Given the description of an element on the screen output the (x, y) to click on. 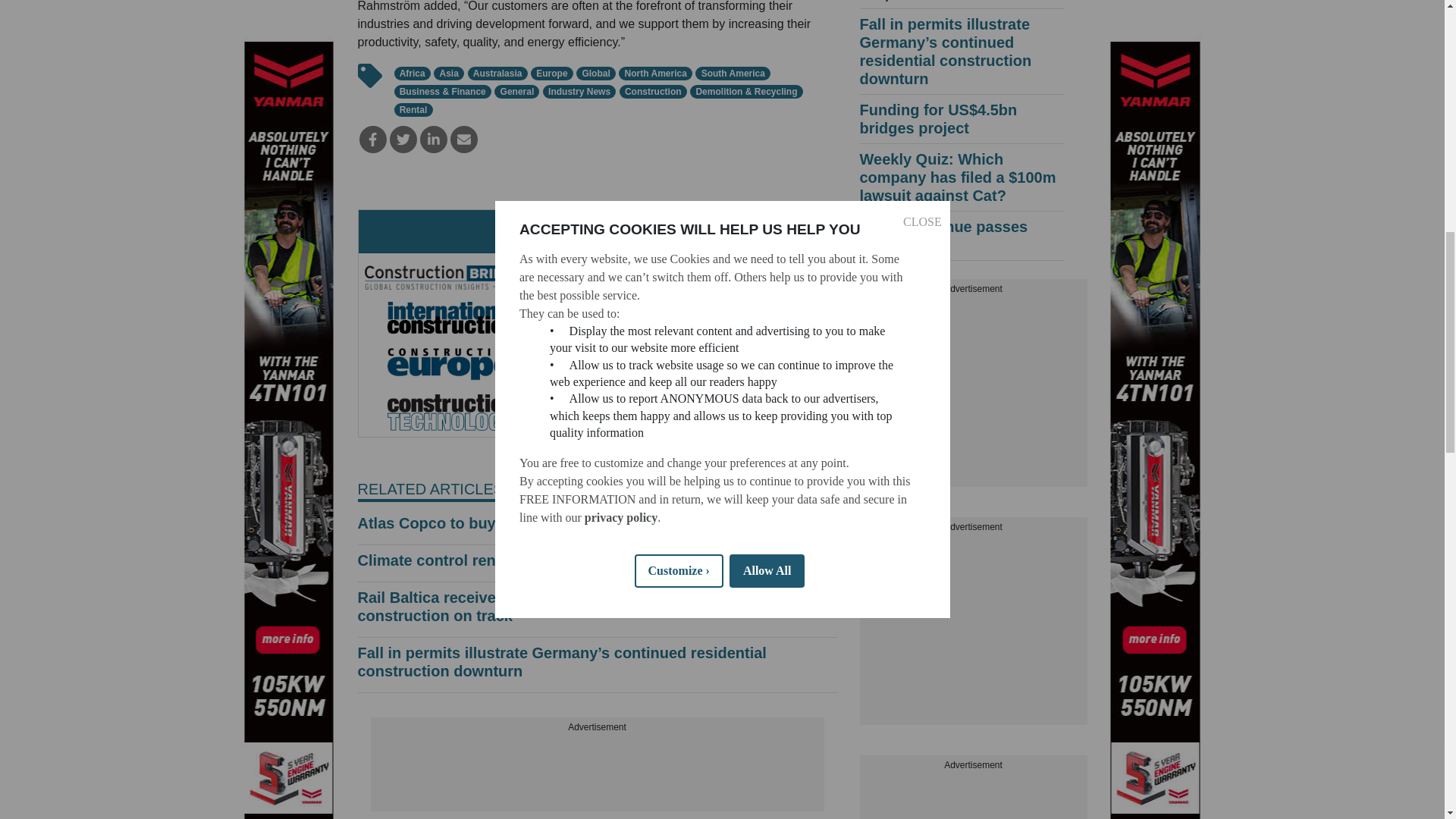
Allow All (767, 121)
Share this page via email (463, 139)
3rd party ad content (973, 629)
3rd party ad content (973, 796)
3rd party ad content (596, 773)
3rd party ad content (973, 391)
Share this page on Facebook (373, 139)
privacy policy (619, 126)
Share this page on Twitter (403, 139)
Share this page on Linkedin (433, 139)
